Given the description of an element on the screen output the (x, y) to click on. 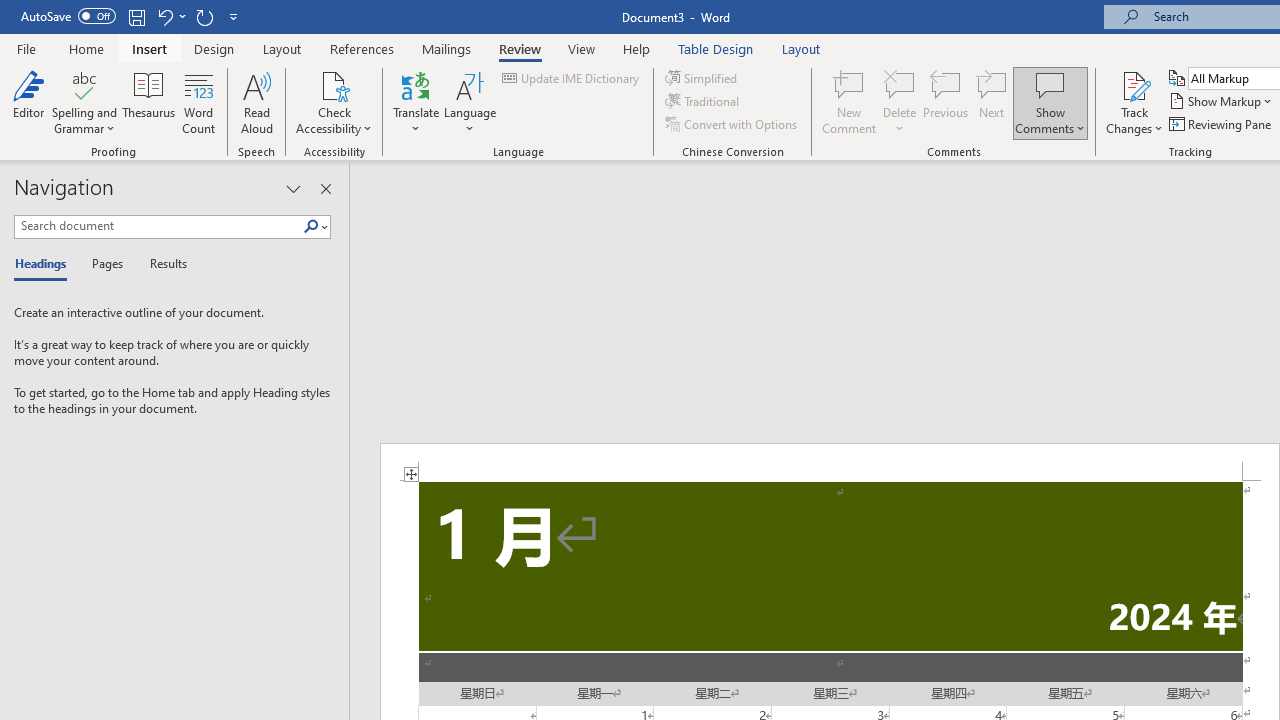
Previous (946, 102)
Convert with Options... (732, 124)
Delete (900, 102)
Word Count (198, 102)
Check Accessibility (334, 102)
Thesaurus... (148, 102)
Track Changes (1134, 102)
